Given the description of an element on the screen output the (x, y) to click on. 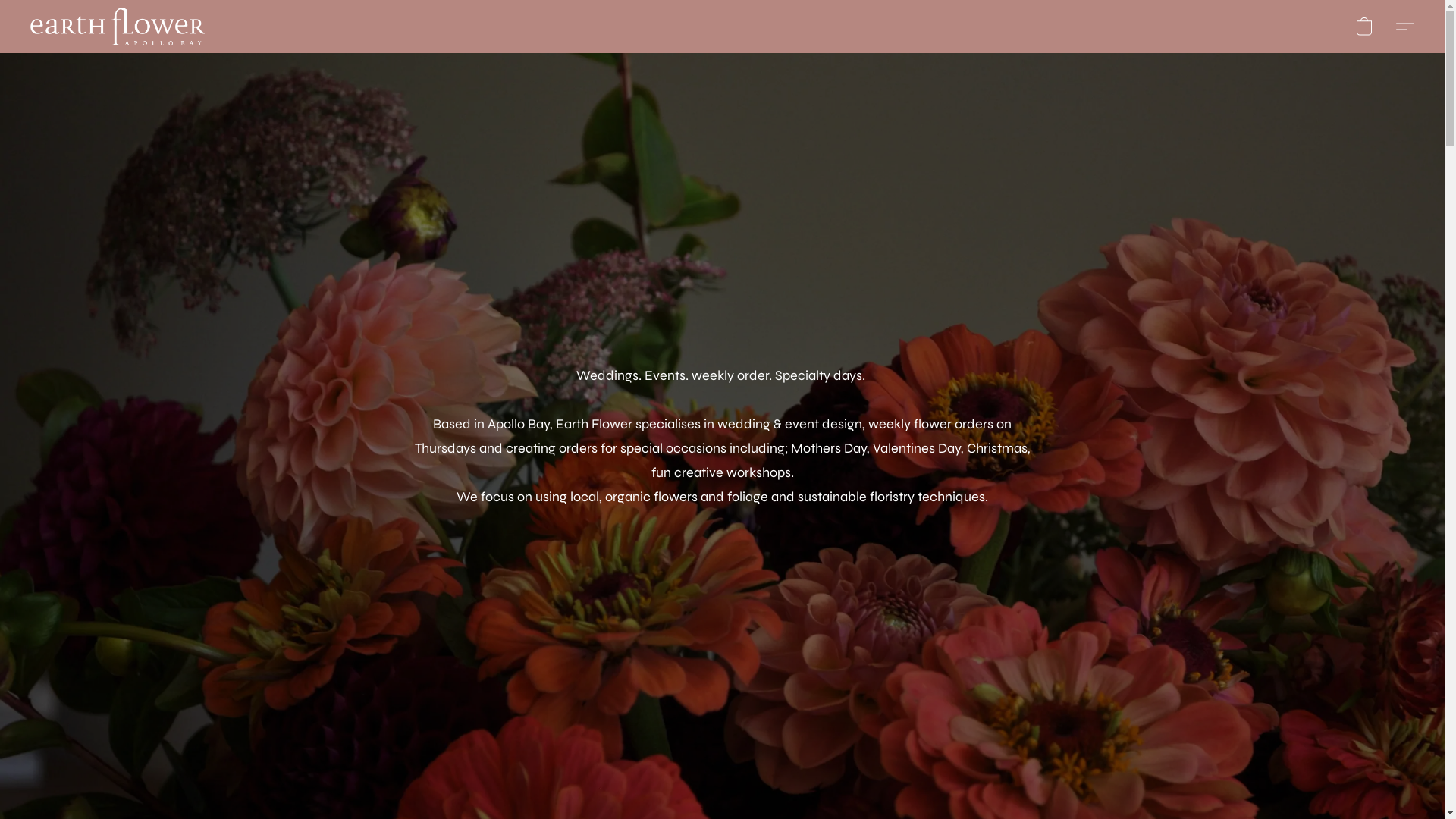
Go to your shopping cart Element type: hover (1363, 26)
